Given the description of an element on the screen output the (x, y) to click on. 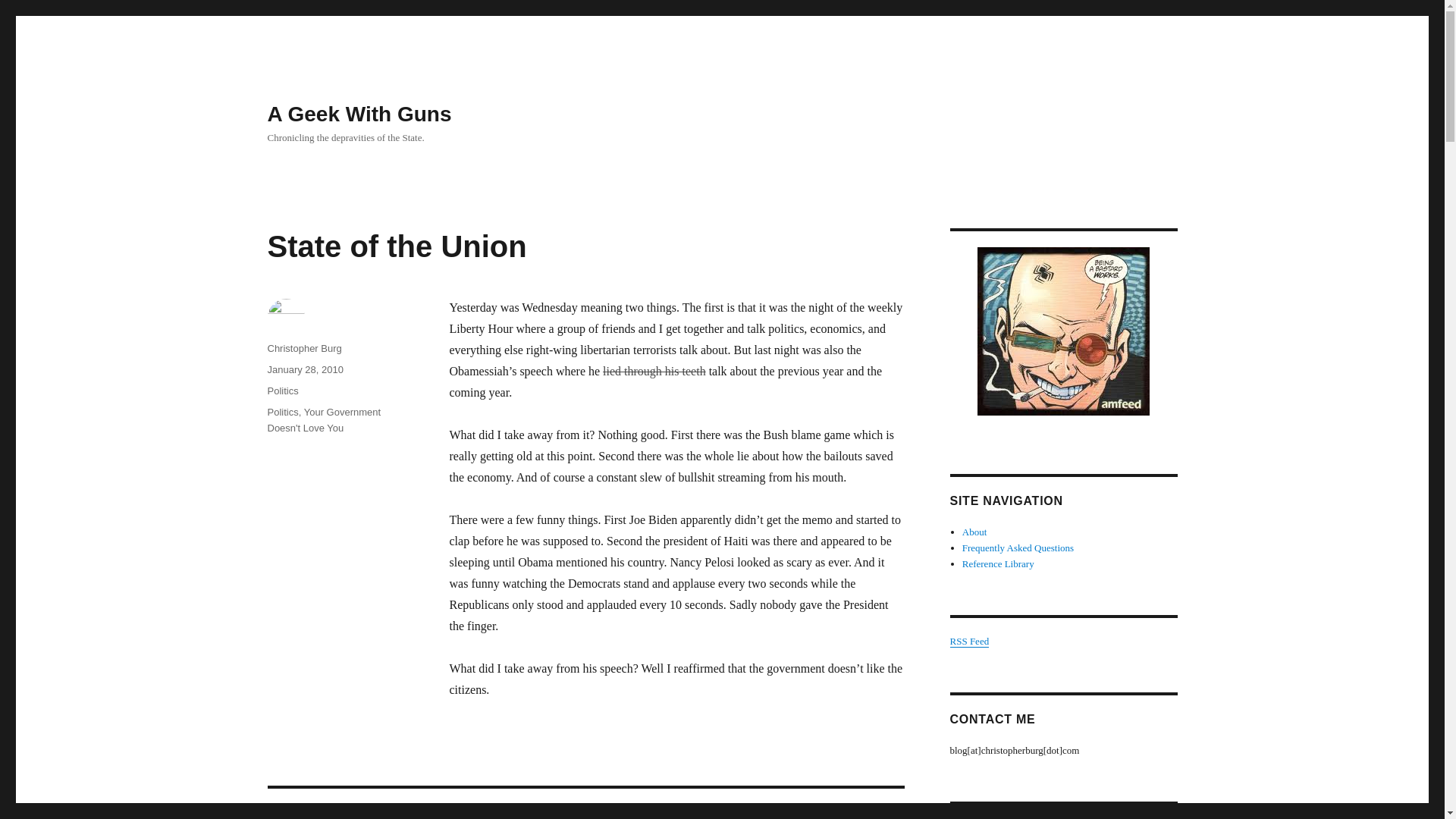
Reference Library (585, 803)
Politics (997, 563)
Your Government Doesn't Love You (282, 390)
Frequently Asked Questions (323, 420)
January 28, 2010 (1018, 547)
Christopher Burg (304, 369)
RSS Feed (303, 348)
A Geek With Guns (968, 641)
About (358, 114)
